Given the description of an element on the screen output the (x, y) to click on. 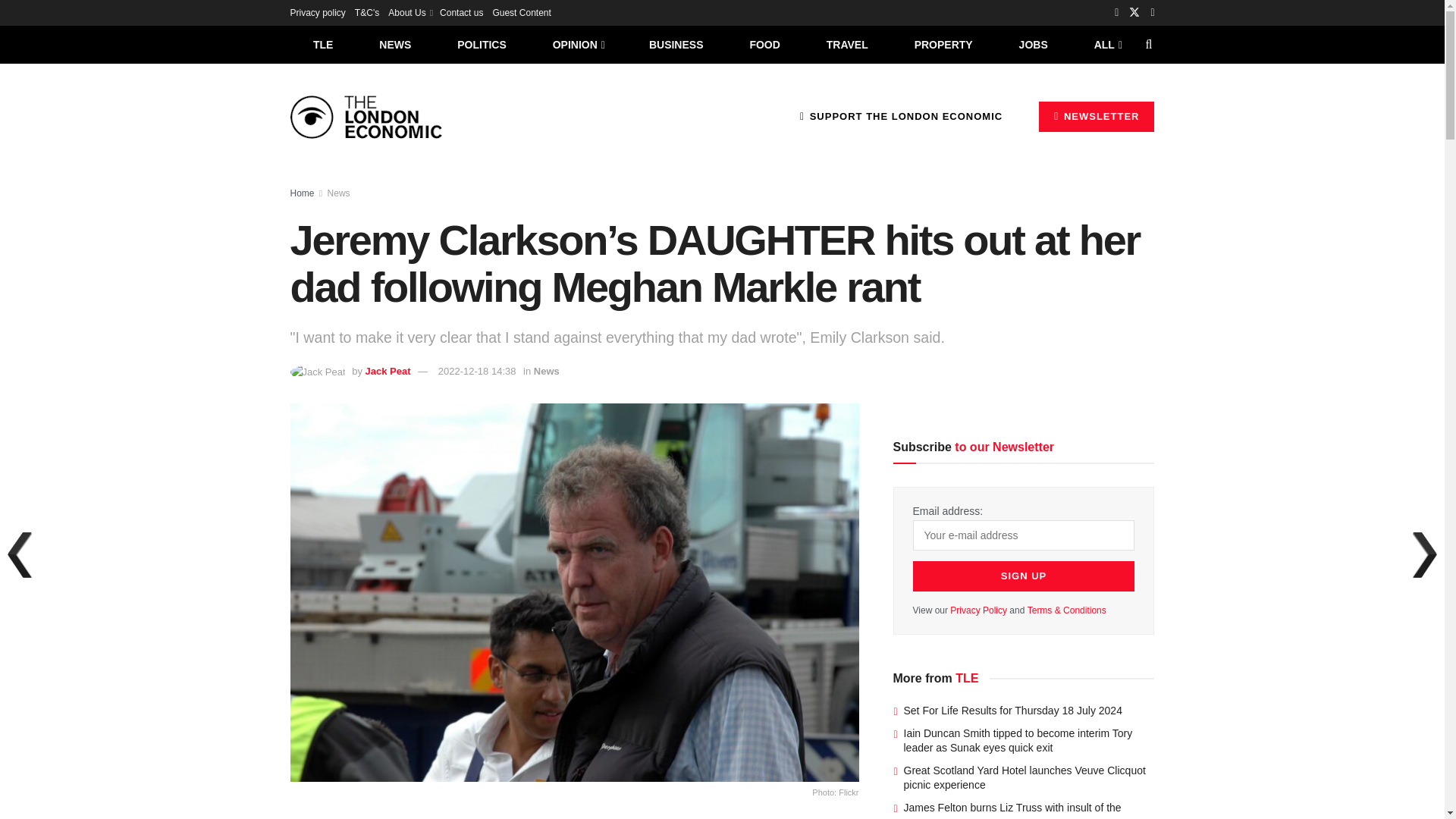
Privacy policy (317, 12)
JOBS (1032, 44)
FOOD (764, 44)
TLE (322, 44)
NEWS (394, 44)
TRAVEL (847, 44)
NEWSLETTER (1096, 116)
Home (301, 193)
PROPERTY (943, 44)
ALL (1106, 44)
POLITICS (481, 44)
About Us (409, 12)
Sign up (1023, 576)
Guest Content (521, 12)
Contact us (461, 12)
